Given the description of an element on the screen output the (x, y) to click on. 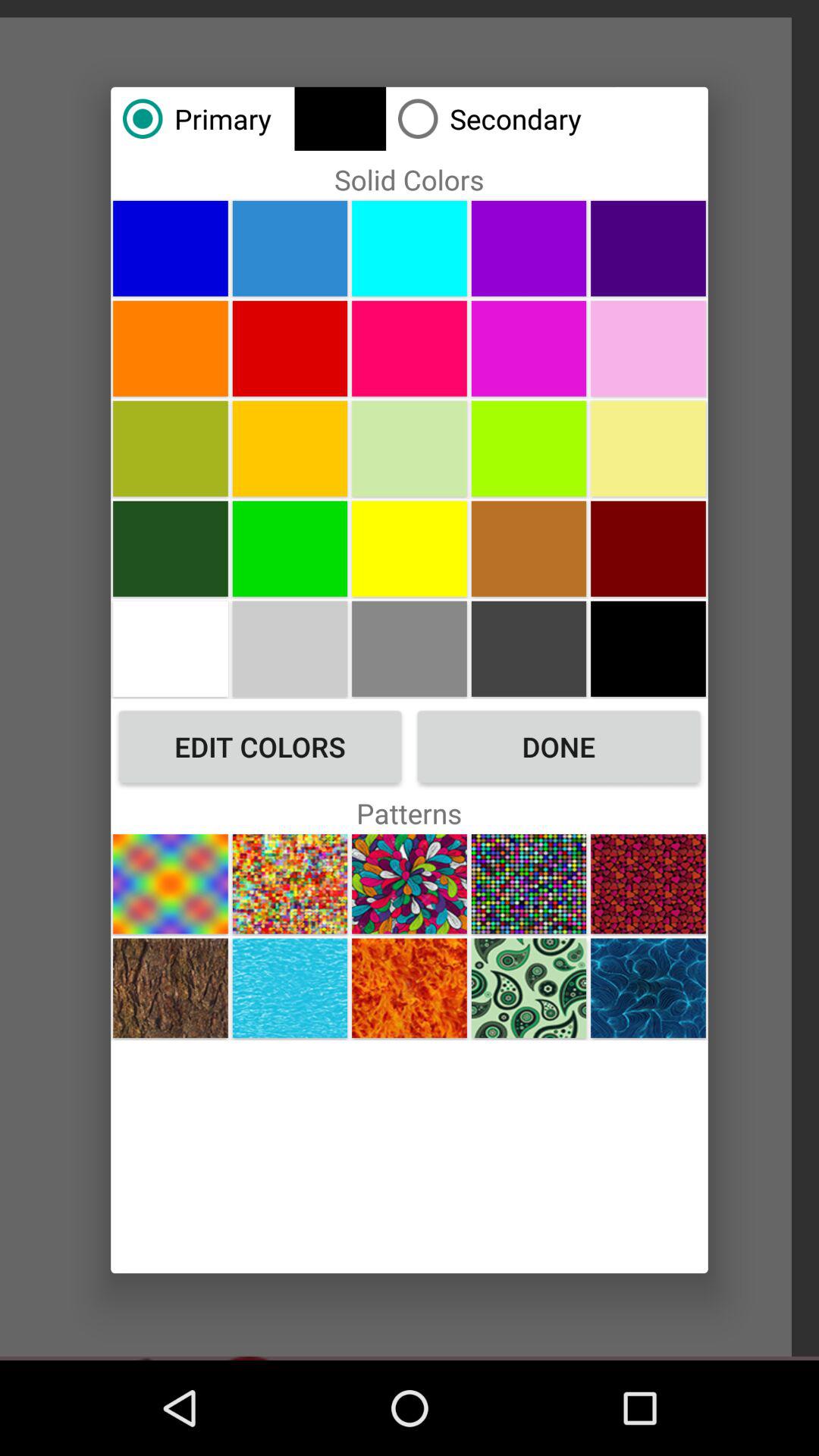
select color purple (647, 248)
